Given the description of an element on the screen output the (x, y) to click on. 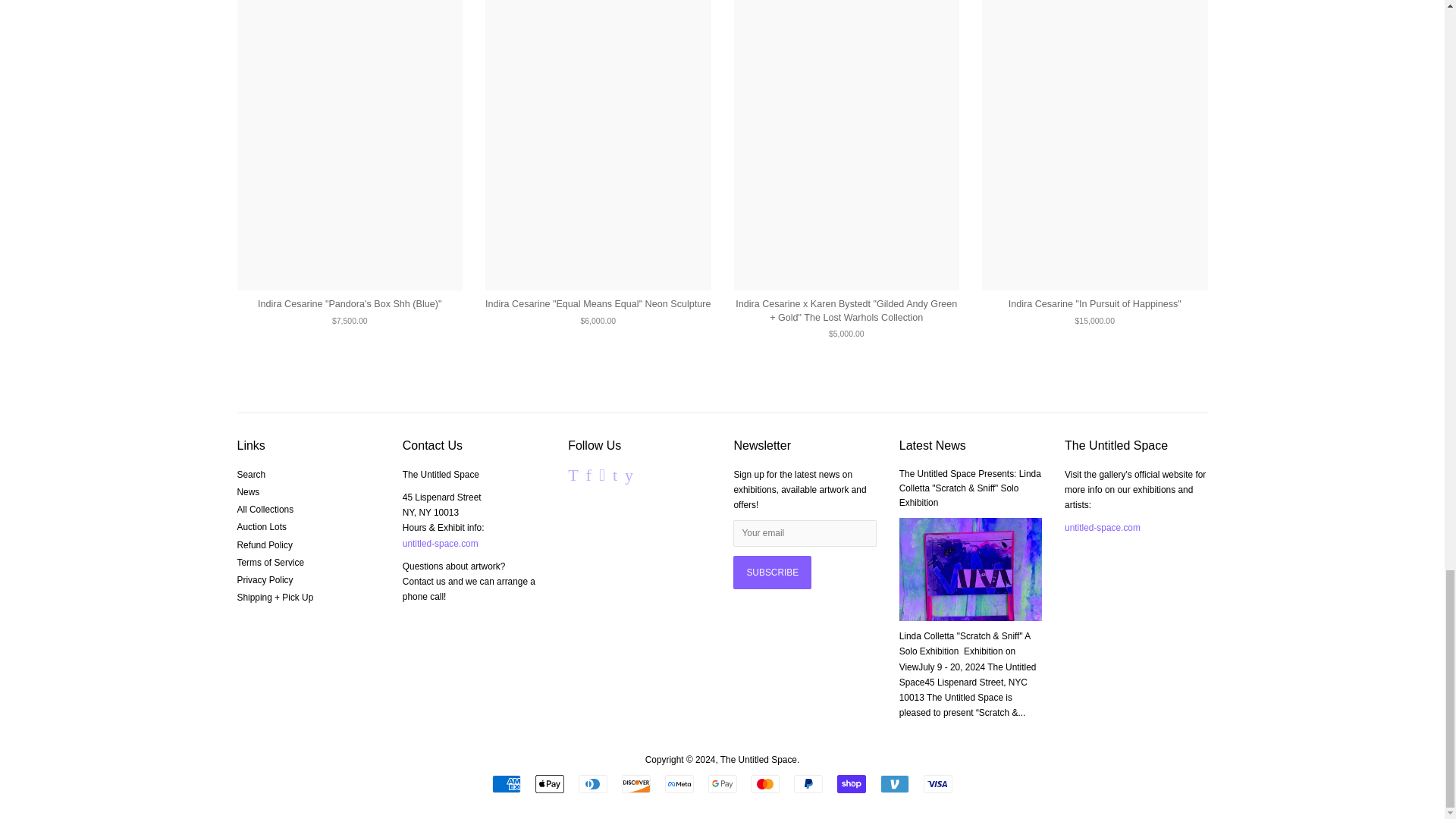
Subscribe (771, 572)
The Untitled Space on Instagram (601, 477)
The Untitled Space on YouTube (628, 477)
American Express (506, 783)
Diners Club (592, 783)
The Untitled Space on Twitter (572, 477)
Google Pay (721, 783)
The Untitled Space on Tumblr (614, 477)
Apple Pay (549, 783)
Meta Pay (679, 783)
Discover (635, 783)
Shop Pay (851, 783)
The Untitled Space on Facebook (588, 477)
Venmo (894, 783)
PayPal (807, 783)
